Given the description of an element on the screen output the (x, y) to click on. 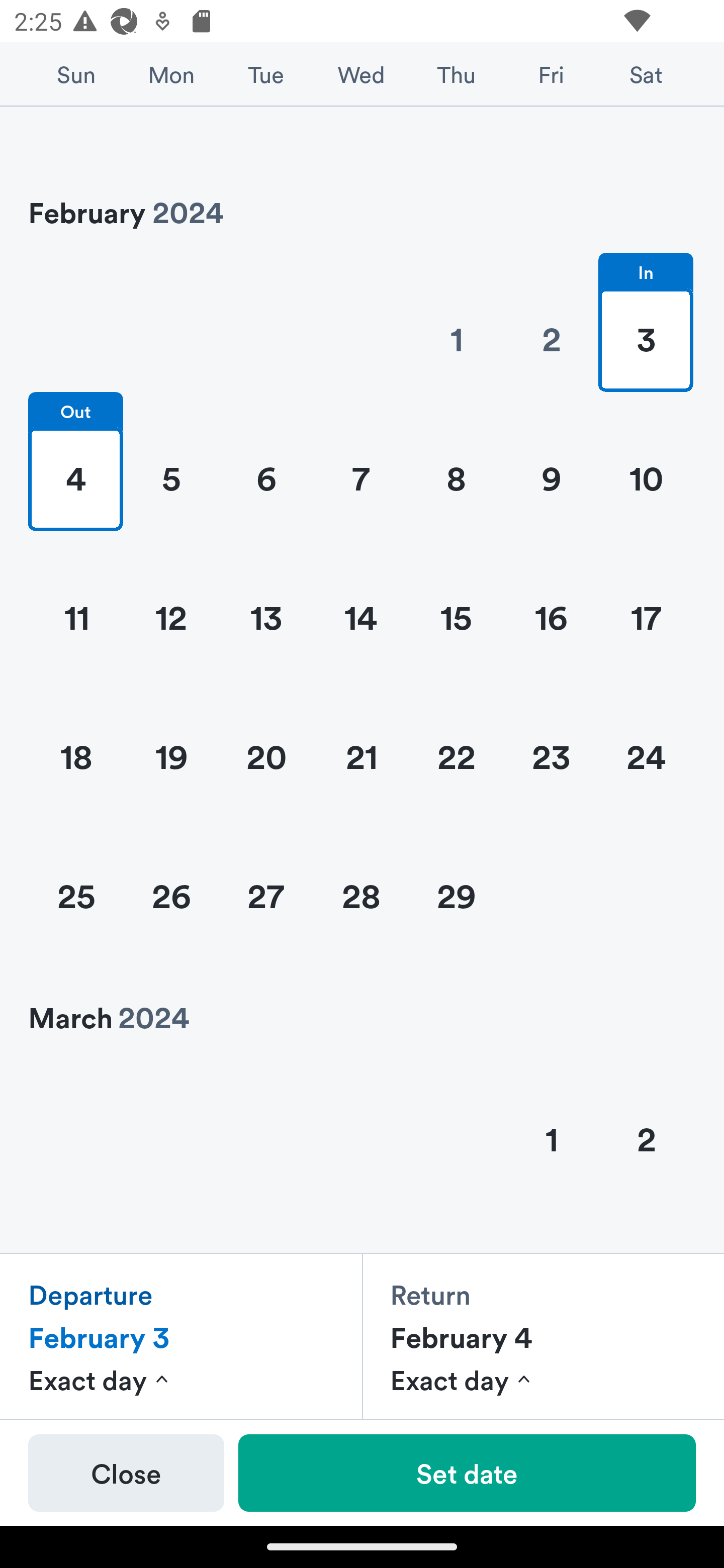
Close (126, 1472)
Set date (466, 1472)
